Given the description of an element on the screen output the (x, y) to click on. 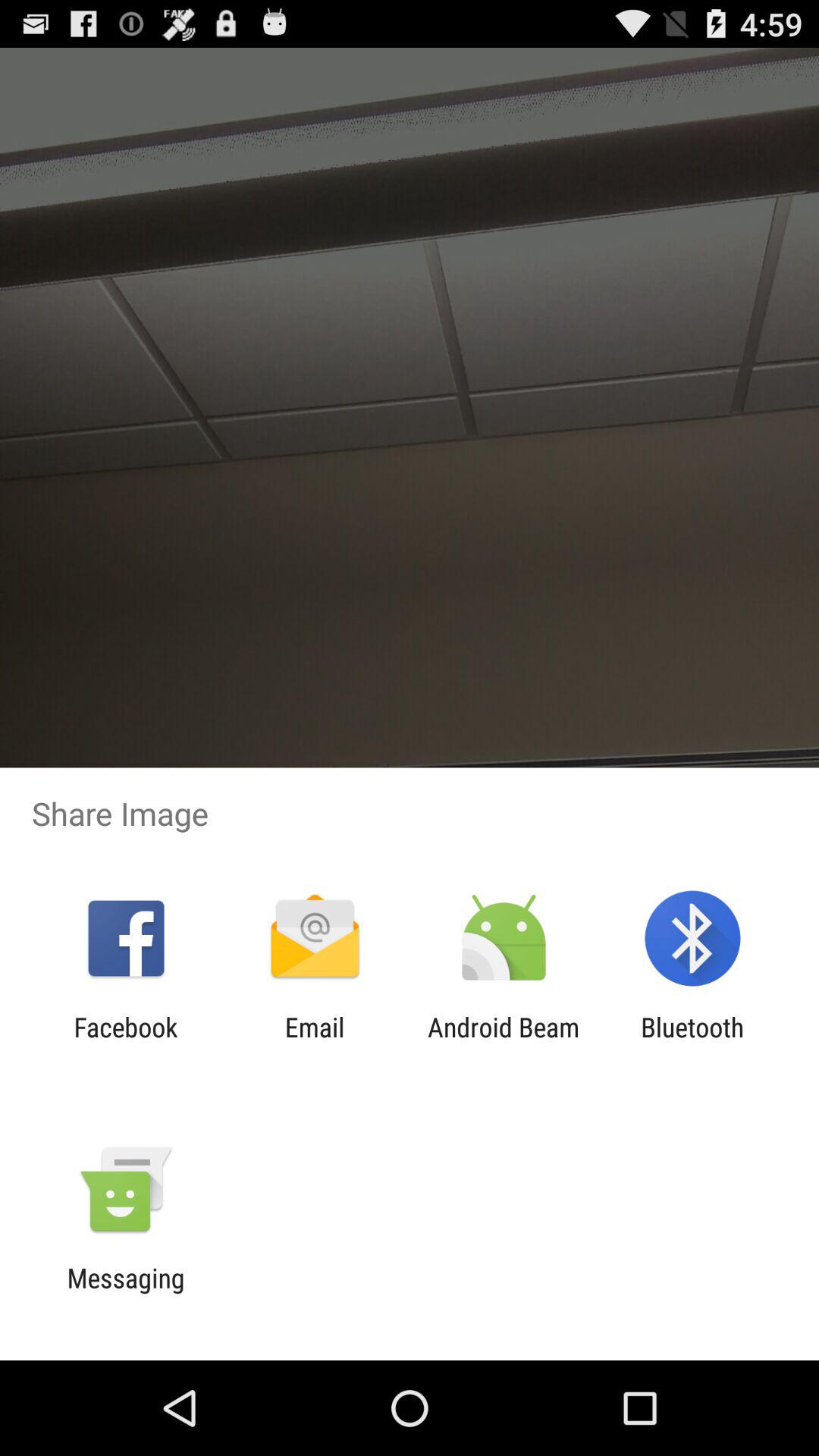
press the item next to android beam item (691, 1042)
